Given the description of an element on the screen output the (x, y) to click on. 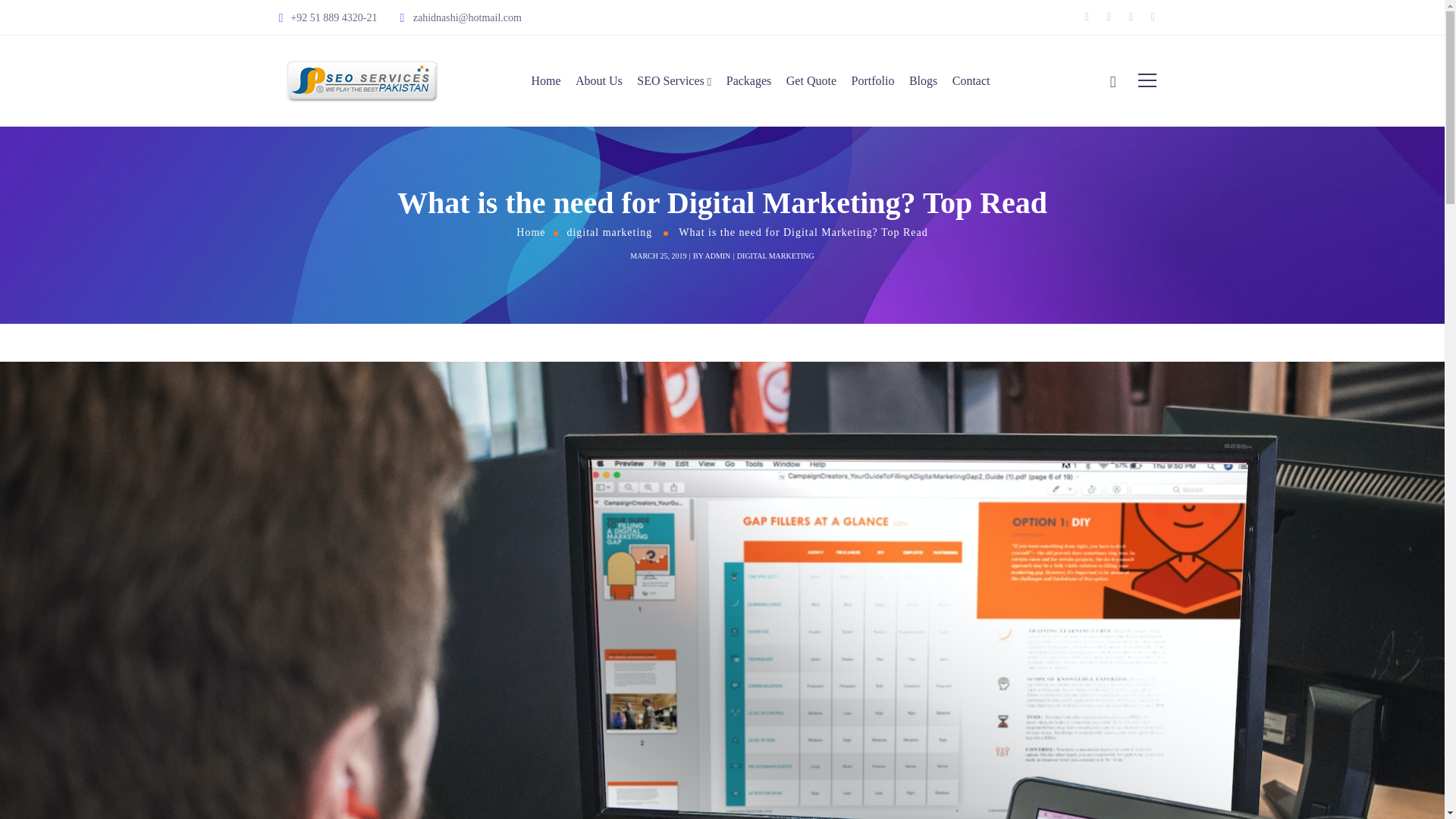
seo-services (362, 81)
ADMIN (717, 255)
SEO Services (674, 80)
Search (1098, 122)
Home (530, 232)
digital marketing (609, 232)
DIGITAL MARKETING (774, 255)
